Given the description of an element on the screen output the (x, y) to click on. 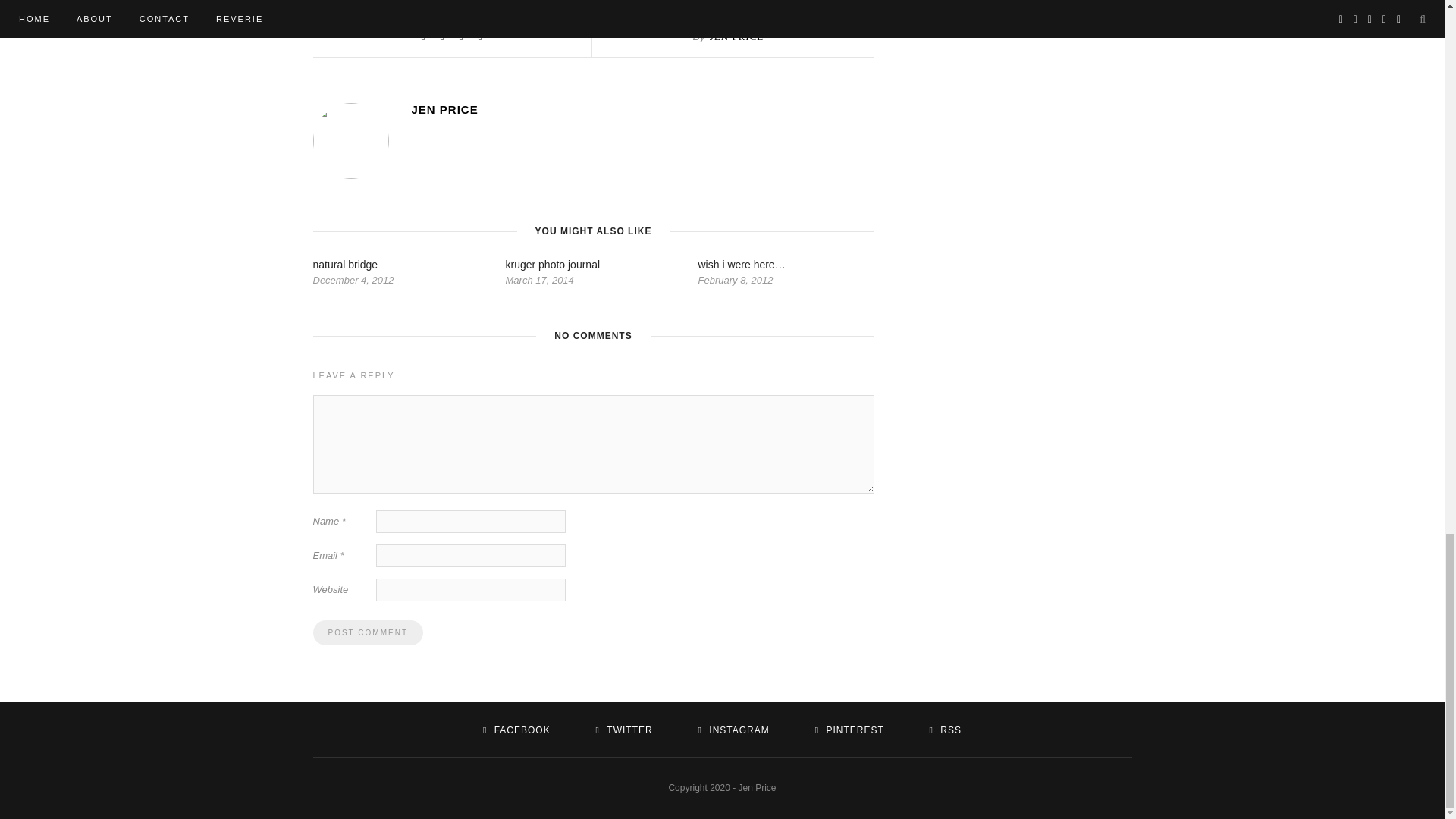
Post Comment (367, 632)
RSS (945, 729)
FACEBOOK (516, 729)
JEN PRICE (641, 109)
natural bridge (345, 264)
TWITTER (623, 729)
JEN PRICE (736, 36)
PINTEREST (849, 729)
Posts by Jen Price (641, 109)
Posts by Jen Price (736, 36)
